Given the description of an element on the screen output the (x, y) to click on. 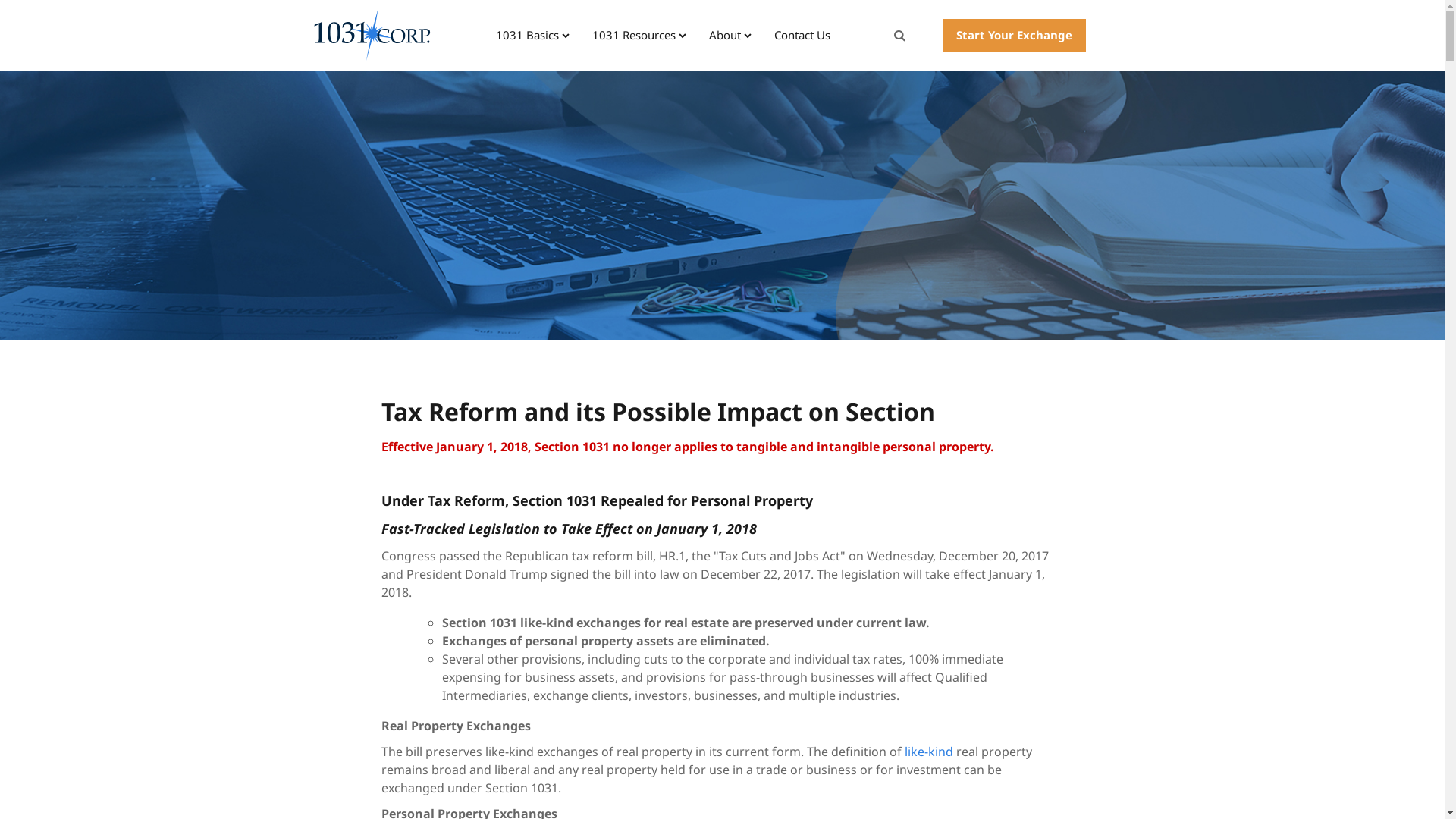
1031 Resources Element type: text (638, 34)
Contact Us Element type: text (801, 34)
1031-logo Element type: hover (371, 34)
Start Your Exchange Element type: text (1013, 34)
1031 Basics Element type: text (532, 34)
About Element type: text (730, 34)
like-kind Element type: text (927, 751)
